Given the description of an element on the screen output the (x, y) to click on. 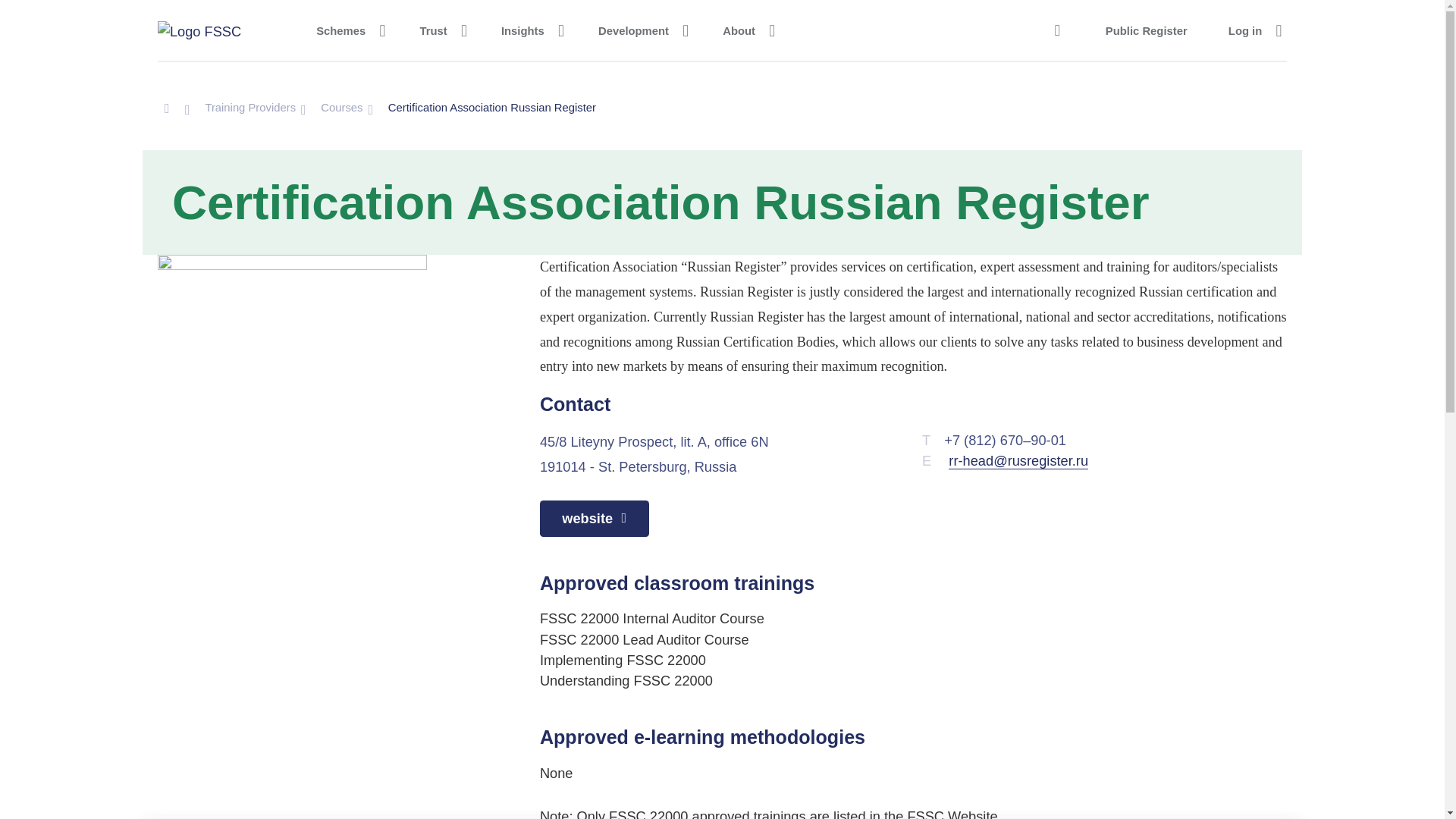
Insights (529, 31)
Trust (439, 31)
Schemes (347, 31)
Schemes (347, 31)
